Given the description of an element on the screen output the (x, y) to click on. 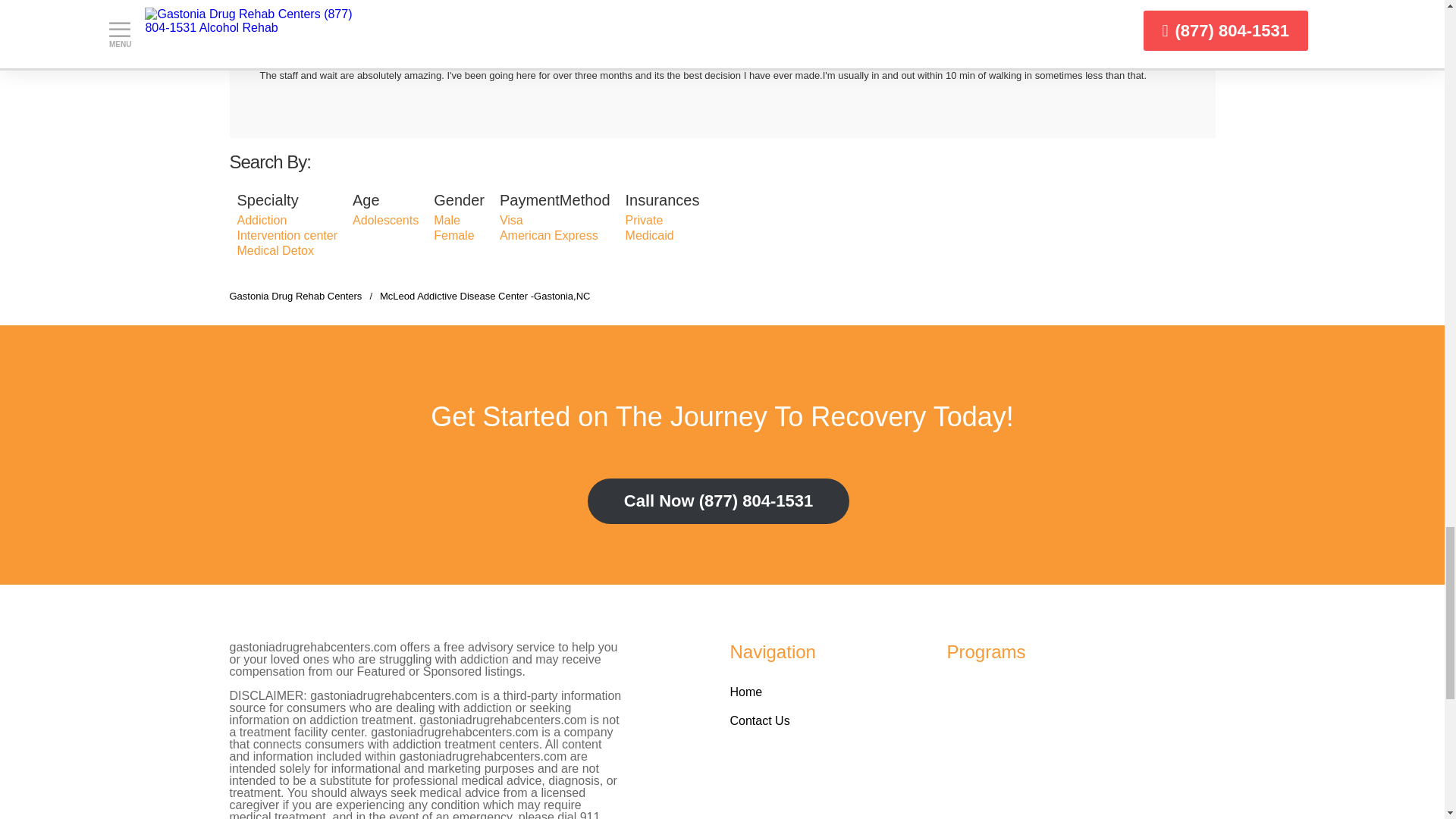
Contact Us (759, 720)
Female (453, 235)
Addiction (260, 219)
Gastonia Drug Rehab Centers (294, 295)
Adolescents (385, 219)
Intervention center (286, 235)
American Express (548, 235)
McLeod Addictive Disease Center -Gastonia,NC (484, 295)
Male (446, 219)
Private (644, 219)
